Given the description of an element on the screen output the (x, y) to click on. 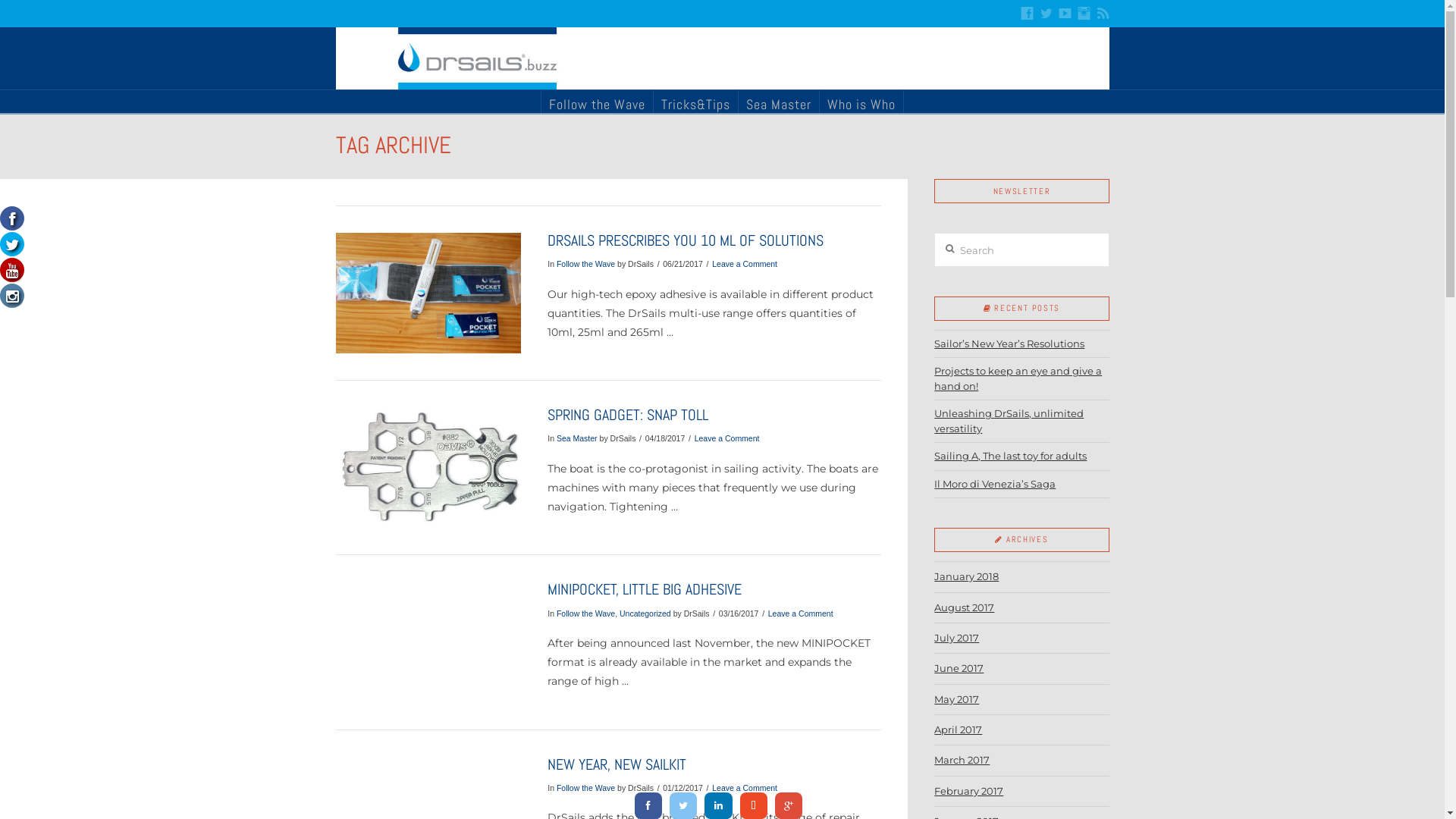
Leave a Comment Element type: text (744, 263)
August 2017 Element type: text (964, 607)
May 2017 Element type: text (956, 699)
Follow the Wave Element type: text (585, 787)
Fix it Easy Element type: hover (721, 58)
Who is Who Element type: text (861, 101)
Projects to keep an eye and give a hand on! Element type: text (1017, 378)
Sea Master Element type: text (778, 101)
MINIPOCKET, LITTLE BIG ADHESIVE Element type: text (644, 589)
NEW YEAR, NEW SAILKIT Element type: text (616, 764)
January 2018 Element type: text (966, 576)
DRSAILS PRESCRIBES YOU 10 ML OF SOLUTIONS Element type: text (685, 240)
Follow the Wave Element type: text (585, 263)
Uncategorized Element type: text (645, 612)
SPRING GADGET: SNAP TOLL Element type: text (627, 414)
Unleashing DrSails, unlimited versatility Element type: text (1008, 420)
Leave a Comment Element type: text (726, 437)
Tricks&Tips Element type: text (694, 101)
Leave a Comment Element type: text (744, 787)
March 2017 Element type: text (961, 760)
July 2017 Element type: text (956, 637)
Leave a Comment Element type: text (800, 612)
Follow the Wave Element type: text (585, 612)
Follow the Wave Element type: text (596, 101)
February 2017 Element type: text (968, 791)
Sea Master Element type: text (576, 437)
June 2017 Element type: text (958, 668)
April 2017 Element type: text (958, 729)
Sailing A, The last toy for adults Element type: text (1010, 455)
